Given the description of an element on the screen output the (x, y) to click on. 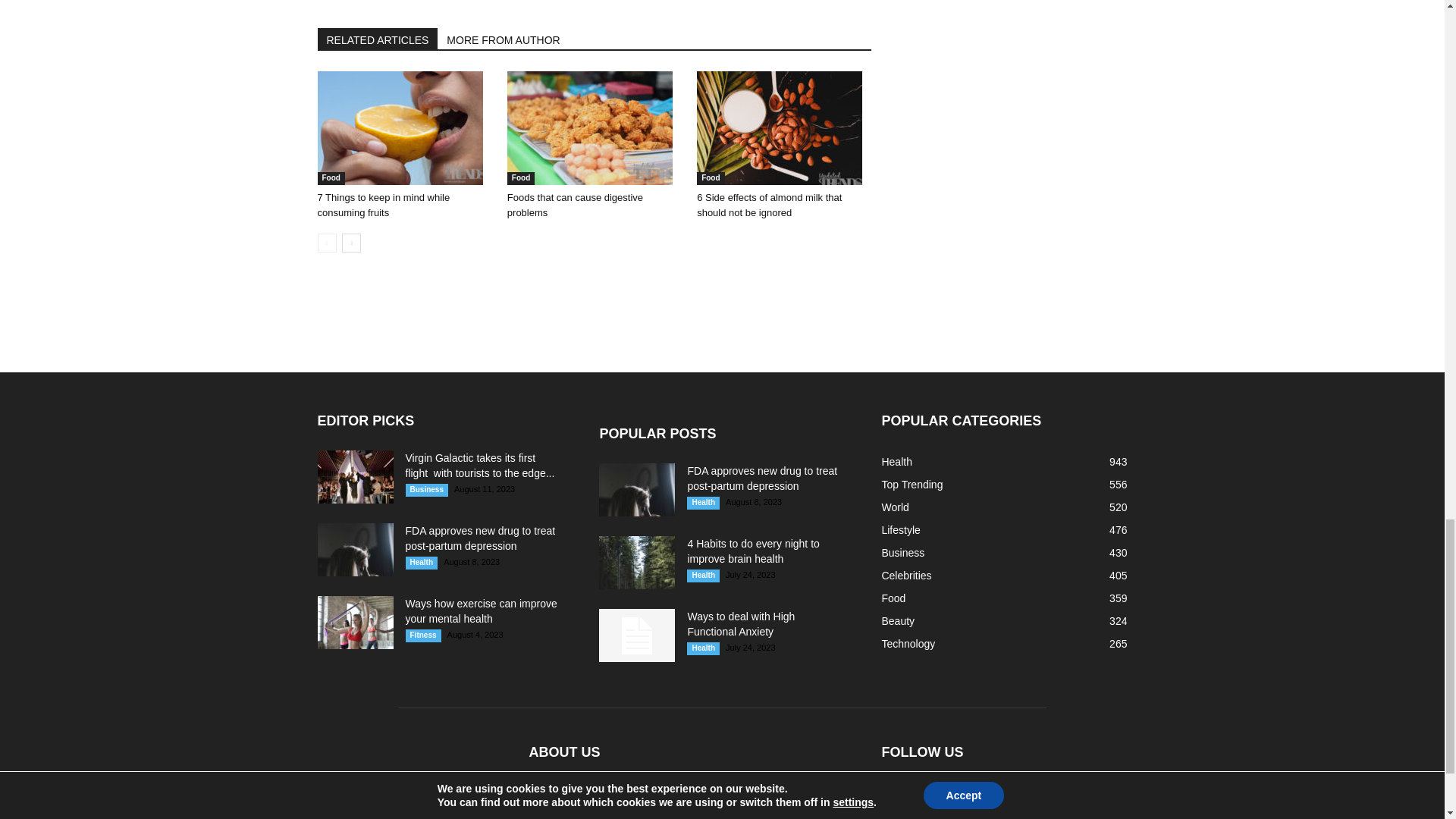
7 Things to keep in mind while consuming fruits (383, 204)
7 Things to keep in mind while consuming fruits (403, 128)
Foods that can cause digestive problems (574, 204)
6 Side effects of almond milk that should not be ignored (783, 128)
6 Side effects of almond milk that should not be ignored (769, 204)
Foods that can cause digestive problems (593, 128)
6 Side effects of almond milk that should not be ignored (779, 128)
Foods that can cause digestive problems (589, 128)
7 Things to keep in mind while consuming fruits (399, 128)
